Given the description of an element on the screen output the (x, y) to click on. 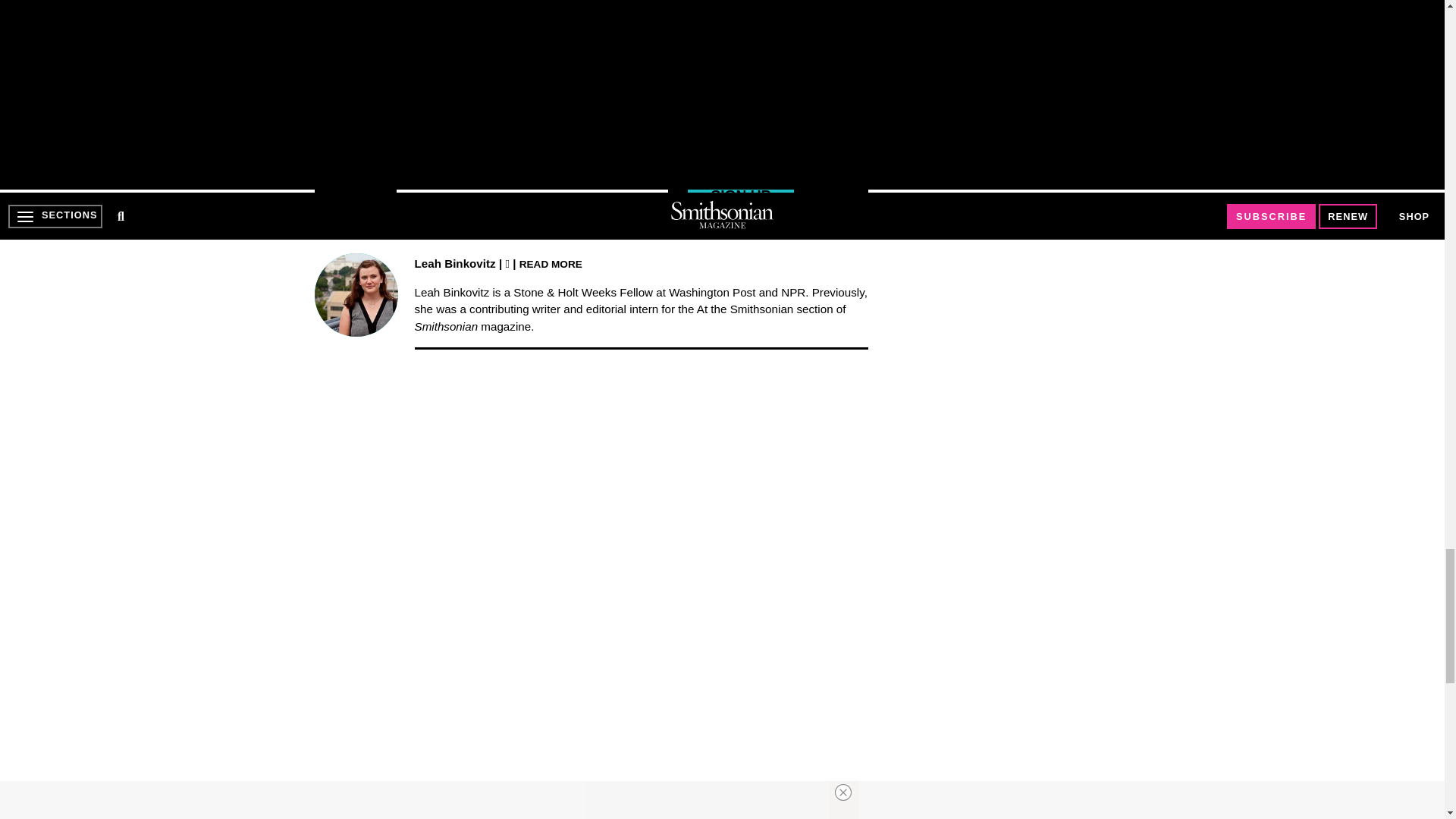
Lectures (825, 79)
Read more from this author (550, 263)
Sign Up (740, 195)
